Given the description of an element on the screen output the (x, y) to click on. 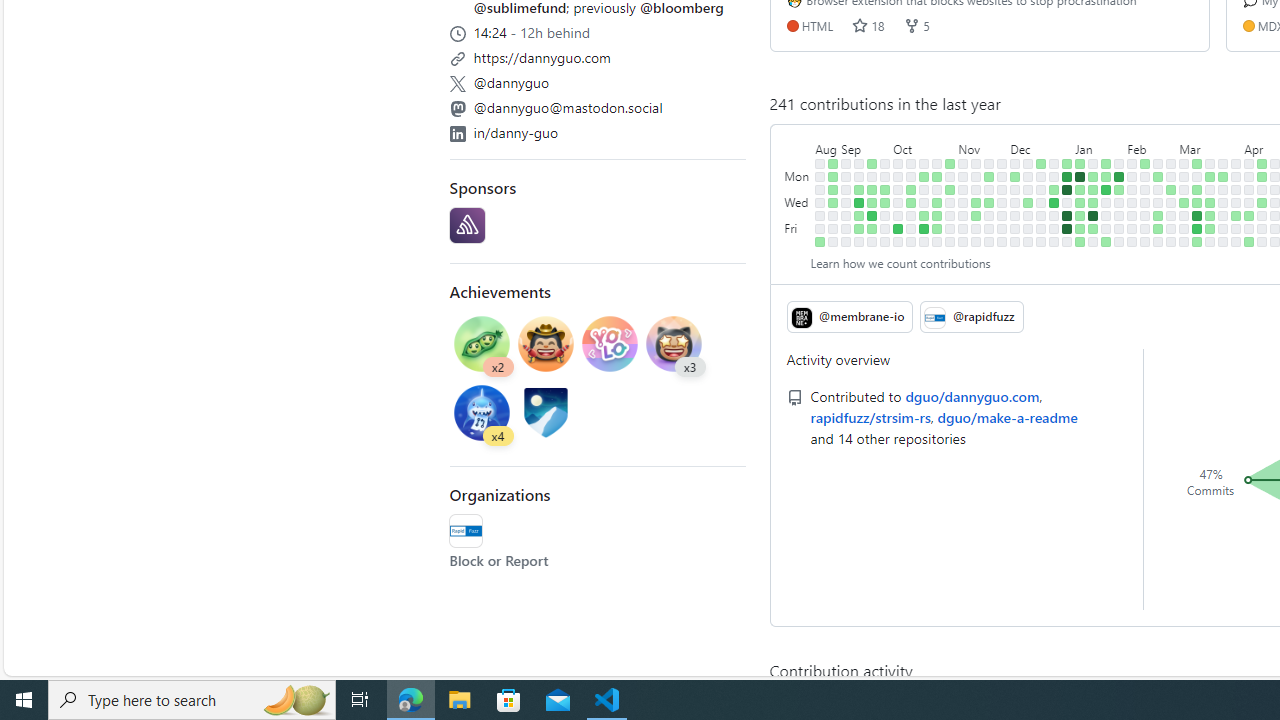
No contributions on November 18th. (976, 241)
rapidfuzz (465, 530)
No contributions on February 9th. (1131, 228)
@dannyguo (597, 79)
Achievement: Starstruck (673, 343)
No contributions on January 3rd. (1067, 202)
No contributions on September 25th. (885, 176)
1 contribution on March 16th. (1197, 241)
1 contribution on October 16th. (924, 176)
No contributions on August 21st. (820, 176)
No contributions on September 16th. (859, 241)
No contributions on September 28th. (885, 215)
No contributions on November 8th. (962, 202)
10 contributions on January 5th. (1067, 228)
No contributions on October 5th. (898, 215)
